Given the description of an element on the screen output the (x, y) to click on. 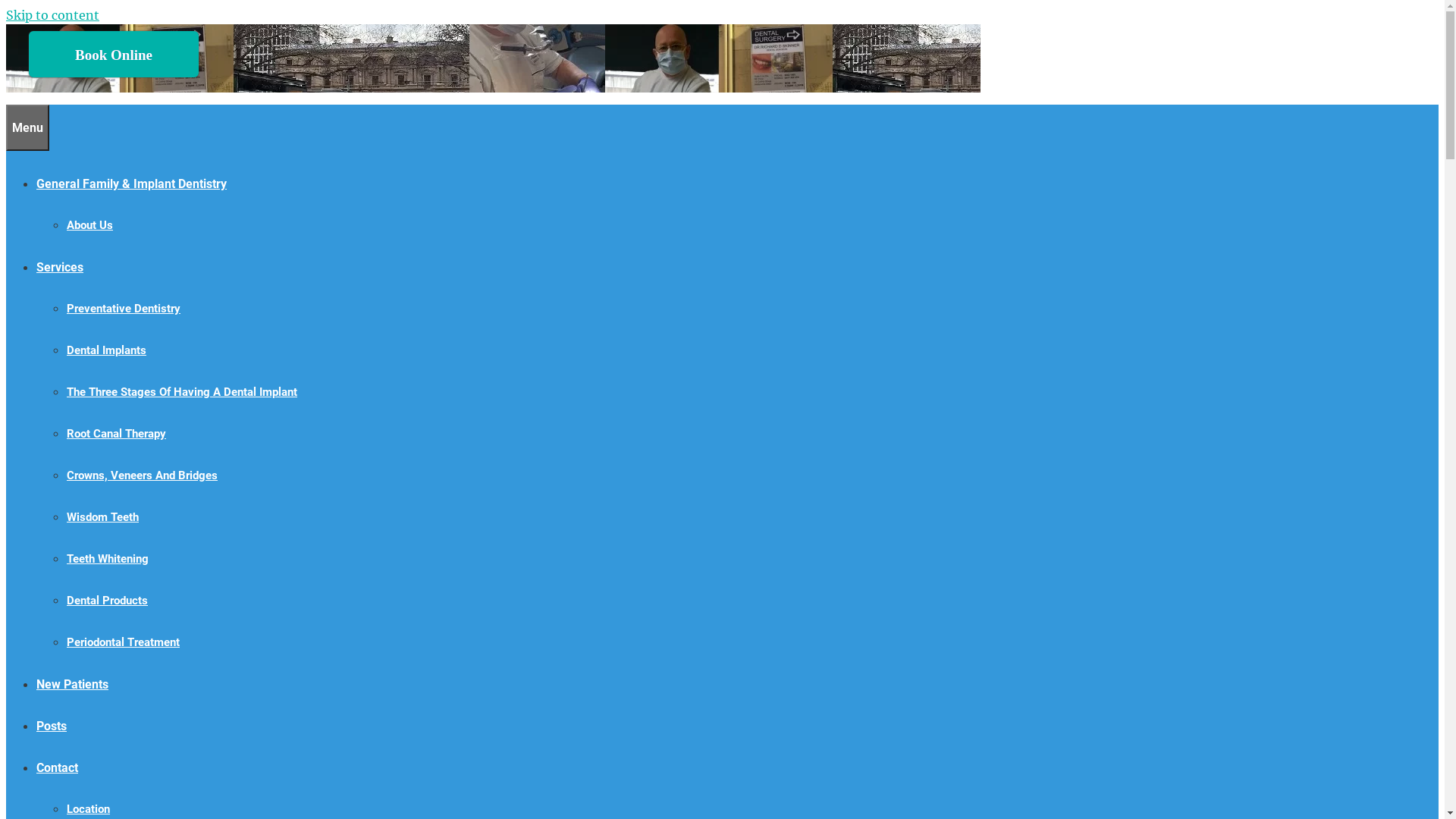
Contact Element type: text (57, 767)
Periodontal Treatment Element type: text (122, 642)
Location Element type: text (87, 808)
Posts Element type: text (51, 725)
Menu Element type: text (27, 127)
Dental Products Element type: text (106, 600)
Dental Implants Element type: text (106, 350)
Crowns, Veneers And Bridges Element type: text (141, 475)
New Patients Element type: text (72, 684)
About Us Element type: text (89, 225)
The Three Stages Of Having A Dental Implant Element type: text (181, 391)
Book Online Element type: text (113, 54)
Teeth Whitening Element type: text (107, 558)
General Family & Implant Dentistry Element type: text (131, 183)
Root Canal Therapy Element type: text (116, 433)
Preventative Dentistry Element type: text (123, 308)
Skip to content Element type: text (52, 14)
Wisdom Teeth Element type: text (102, 517)
Services Element type: text (59, 267)
